Given the description of an element on the screen output the (x, y) to click on. 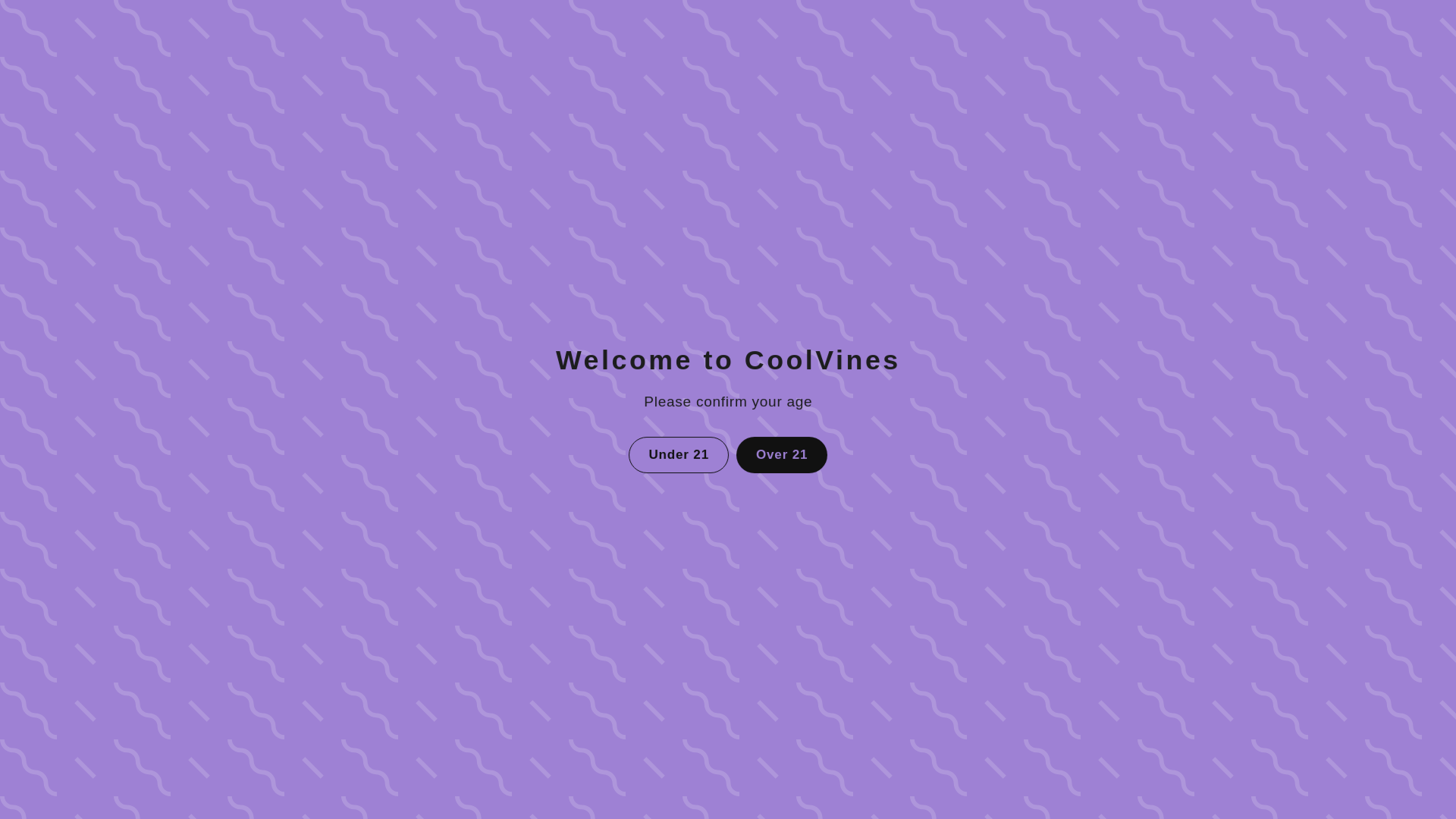
Under 21 (680, 453)
Ask a question (727, 698)
Sold Out (1018, 309)
Over 21 (781, 453)
